Given the description of an element on the screen output the (x, y) to click on. 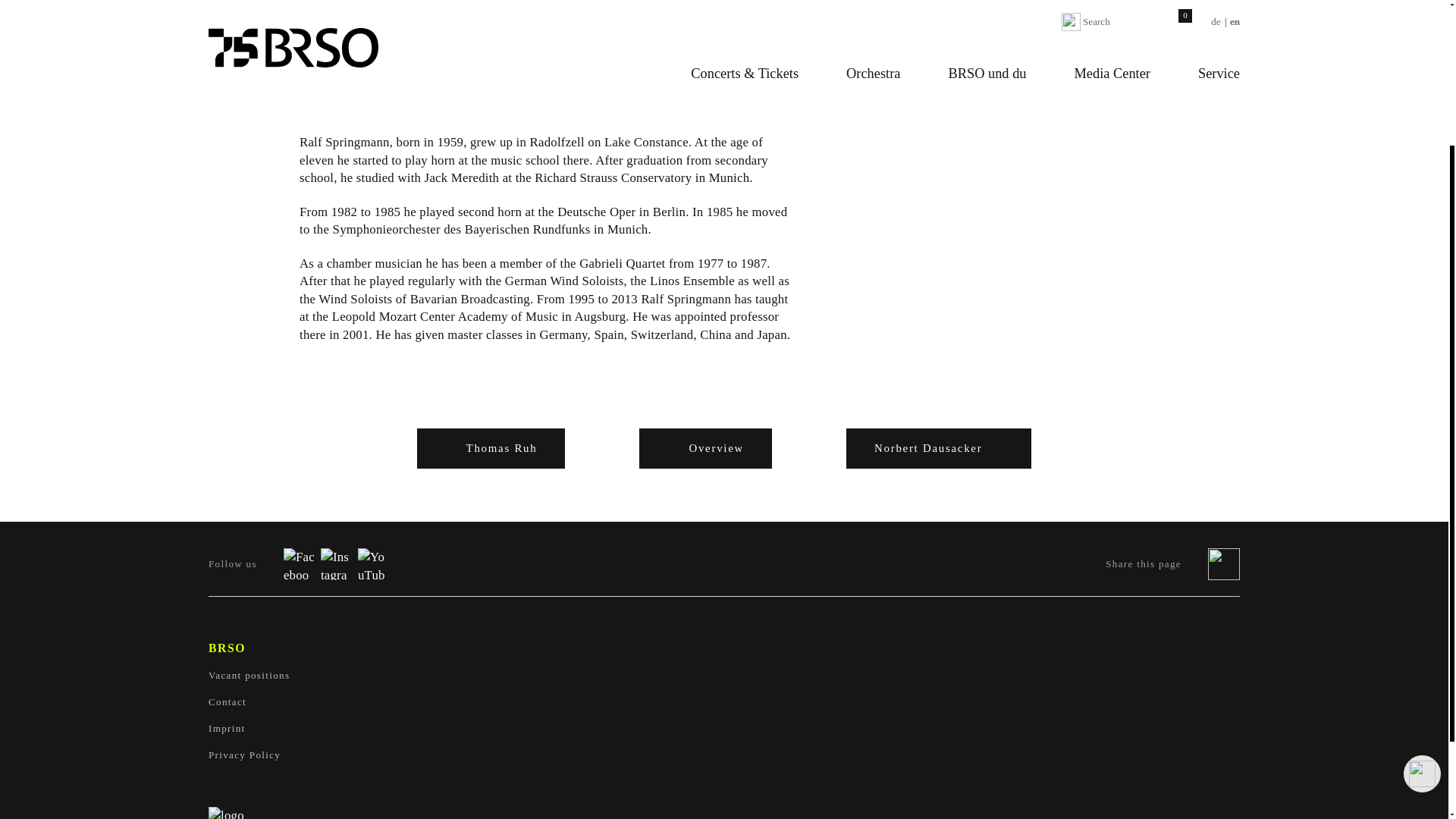
YouTube (374, 563)
Overview (705, 448)
Instagram (336, 563)
Thomas Ruh (491, 448)
Facebook (299, 563)
Norbert Dausacker (937, 448)
